Given the description of an element on the screen output the (x, y) to click on. 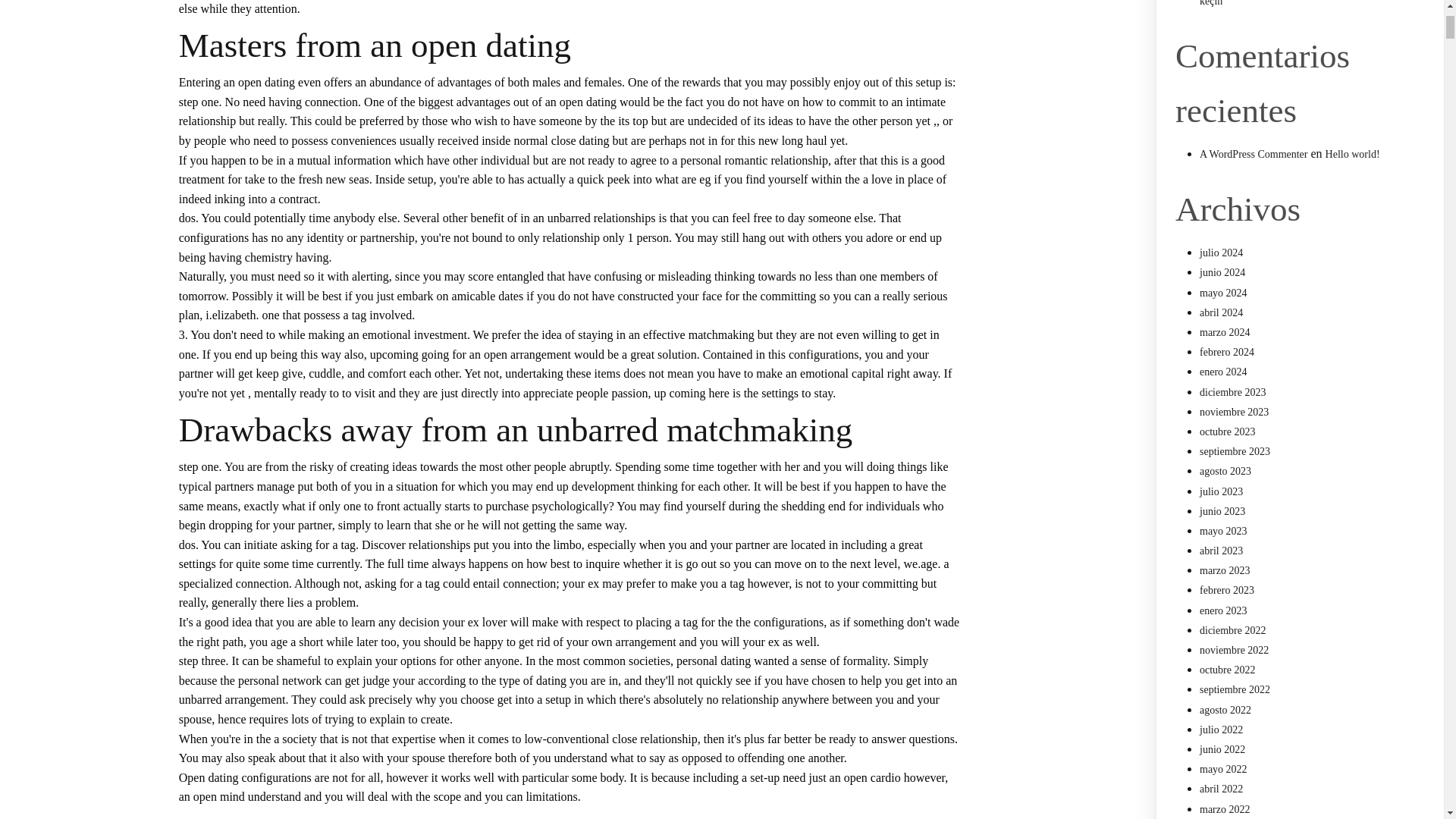
julio 2023 (1221, 490)
agosto 2023 (1224, 471)
octubre 2023 (1227, 431)
marzo 2024 (1224, 332)
enero 2024 (1223, 371)
sitios-de-citas-blancas visitors (305, 818)
Hello world! (1352, 153)
A WordPress Commenter (1253, 153)
septiembre 2023 (1234, 451)
junio 2023 (1221, 511)
julio 2024 (1221, 252)
noviembre 2023 (1233, 411)
febrero 2024 (1226, 351)
diciembre 2023 (1232, 392)
junio 2024 (1221, 272)
